Given the description of an element on the screen output the (x, y) to click on. 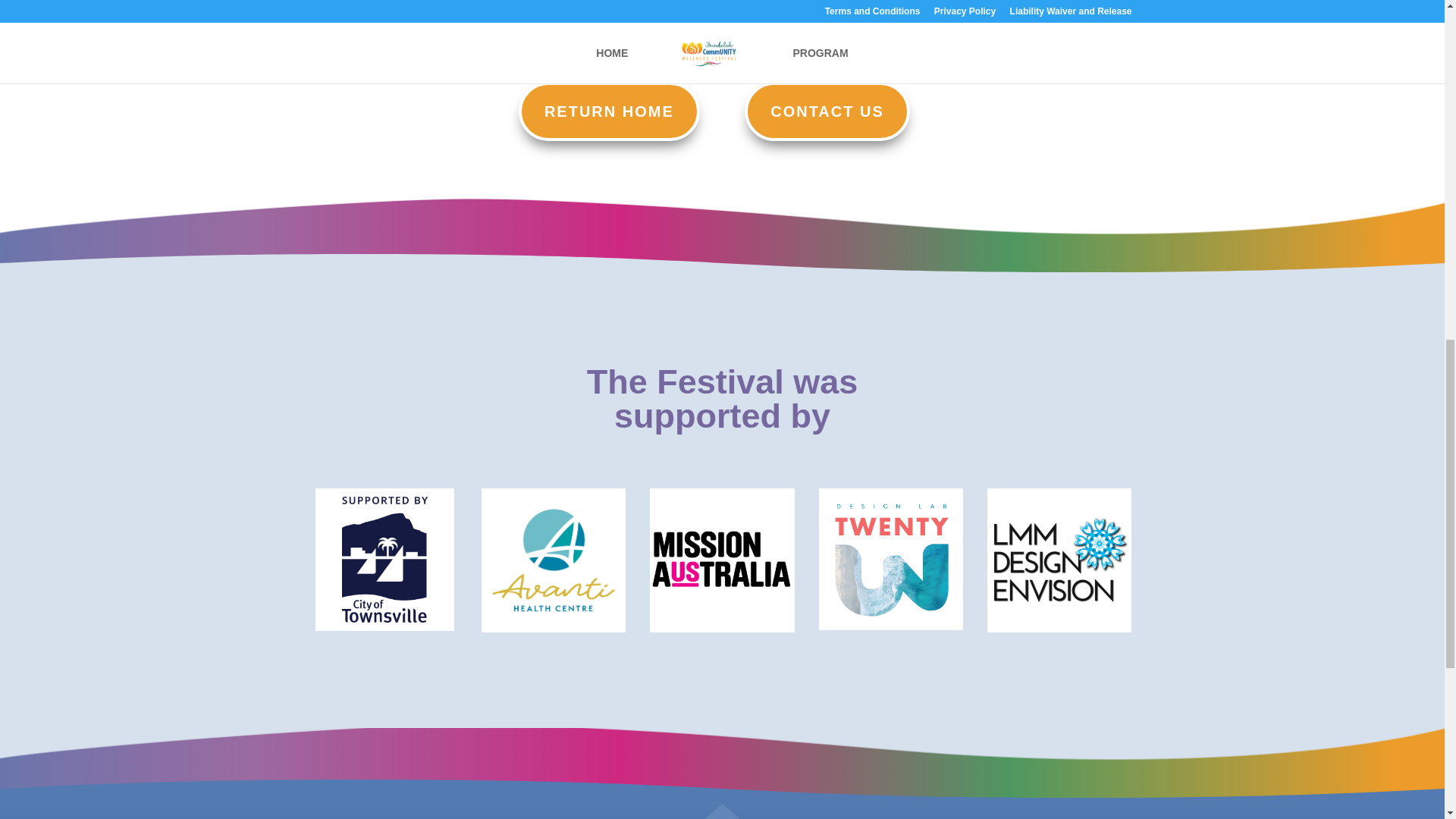
LMM Design Envision (1059, 560)
Supported by City of Townsville (383, 559)
Avanti Health Centre (553, 560)
CONTACT US (827, 110)
RETURN HOME (609, 110)
Sundalah Wellness Festival Icon 1 (935, 816)
Mission Australia (721, 560)
Design Lab 23 (890, 558)
